Given the description of an element on the screen output the (x, y) to click on. 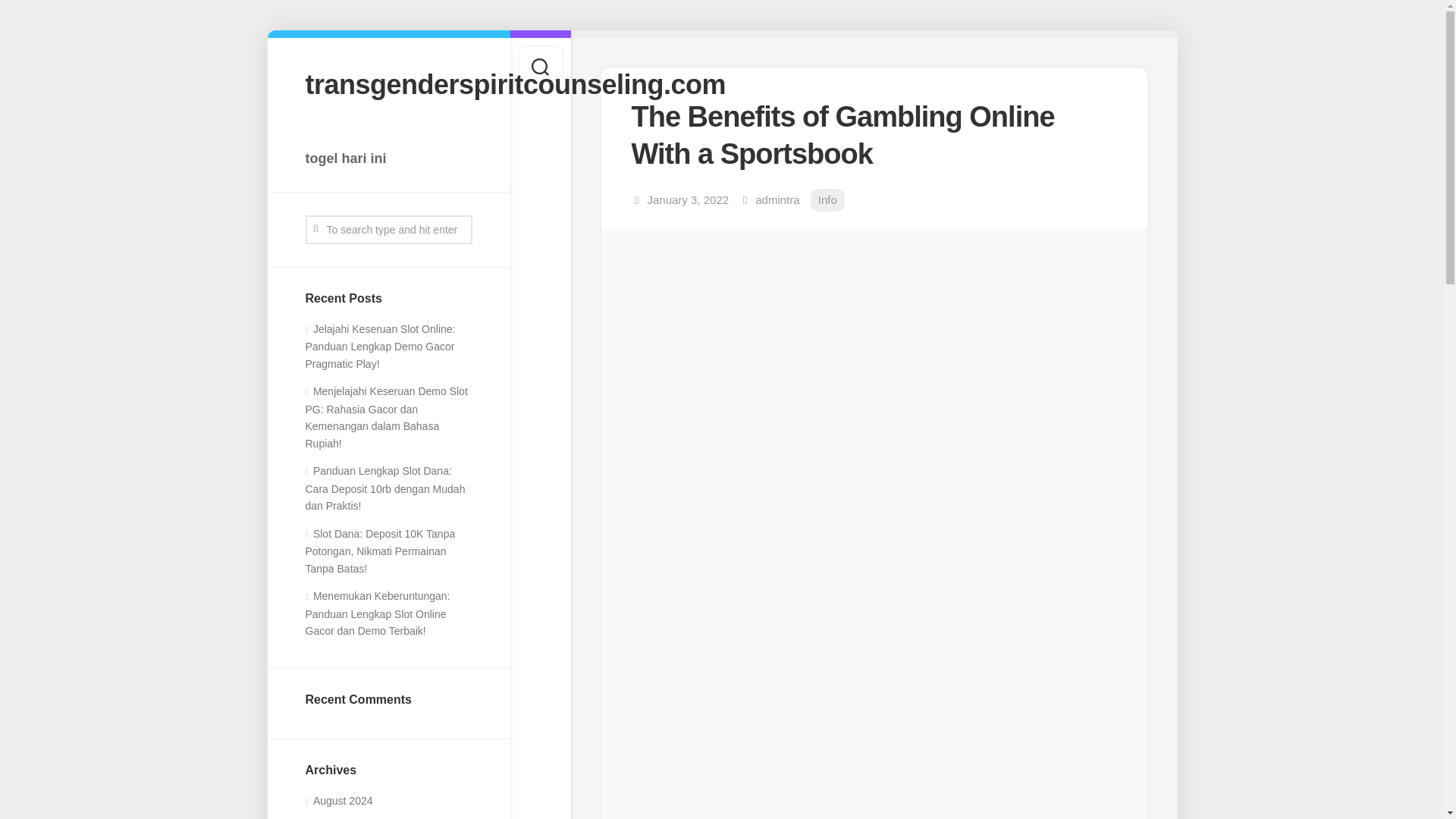
To search type and hit enter (387, 229)
togel hari ini (387, 158)
transgenderspiritcounseling.com (387, 83)
Posts by admintra (777, 199)
August 2024 (338, 800)
